Given the description of an element on the screen output the (x, y) to click on. 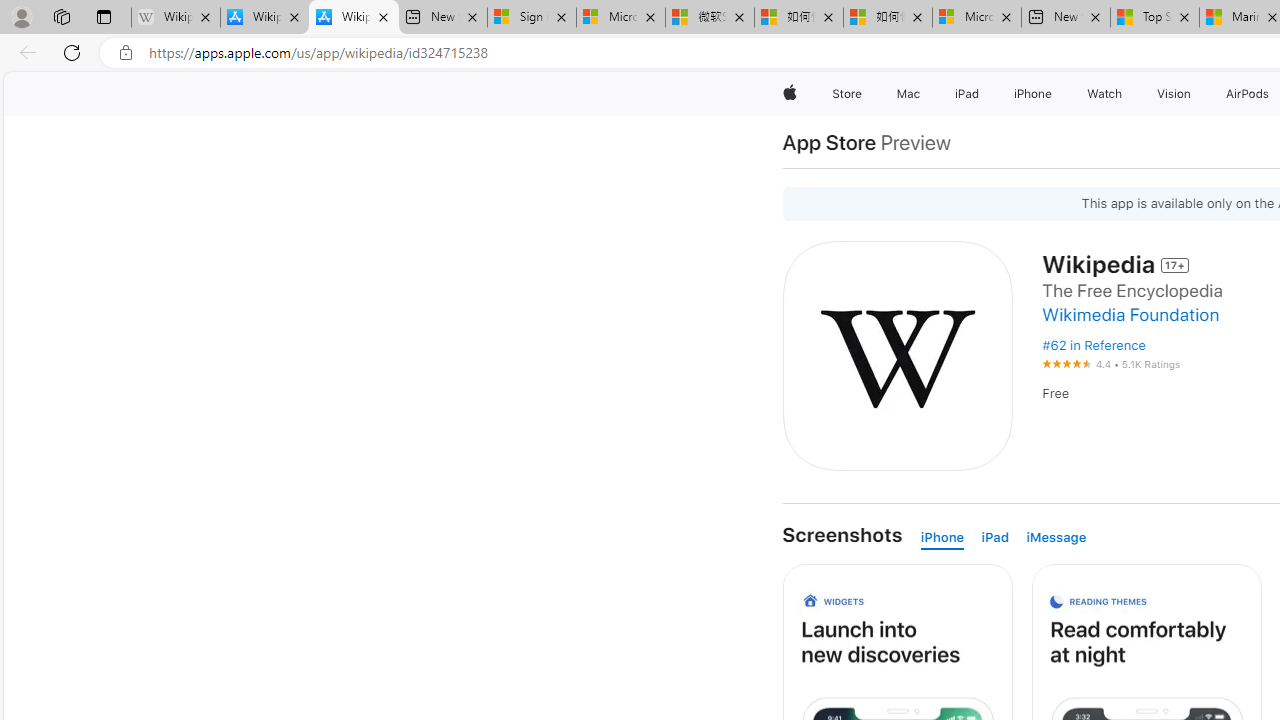
Top Stories - MSN (1155, 17)
Mac menu (922, 93)
